Given the description of an element on the screen output the (x, y) to click on. 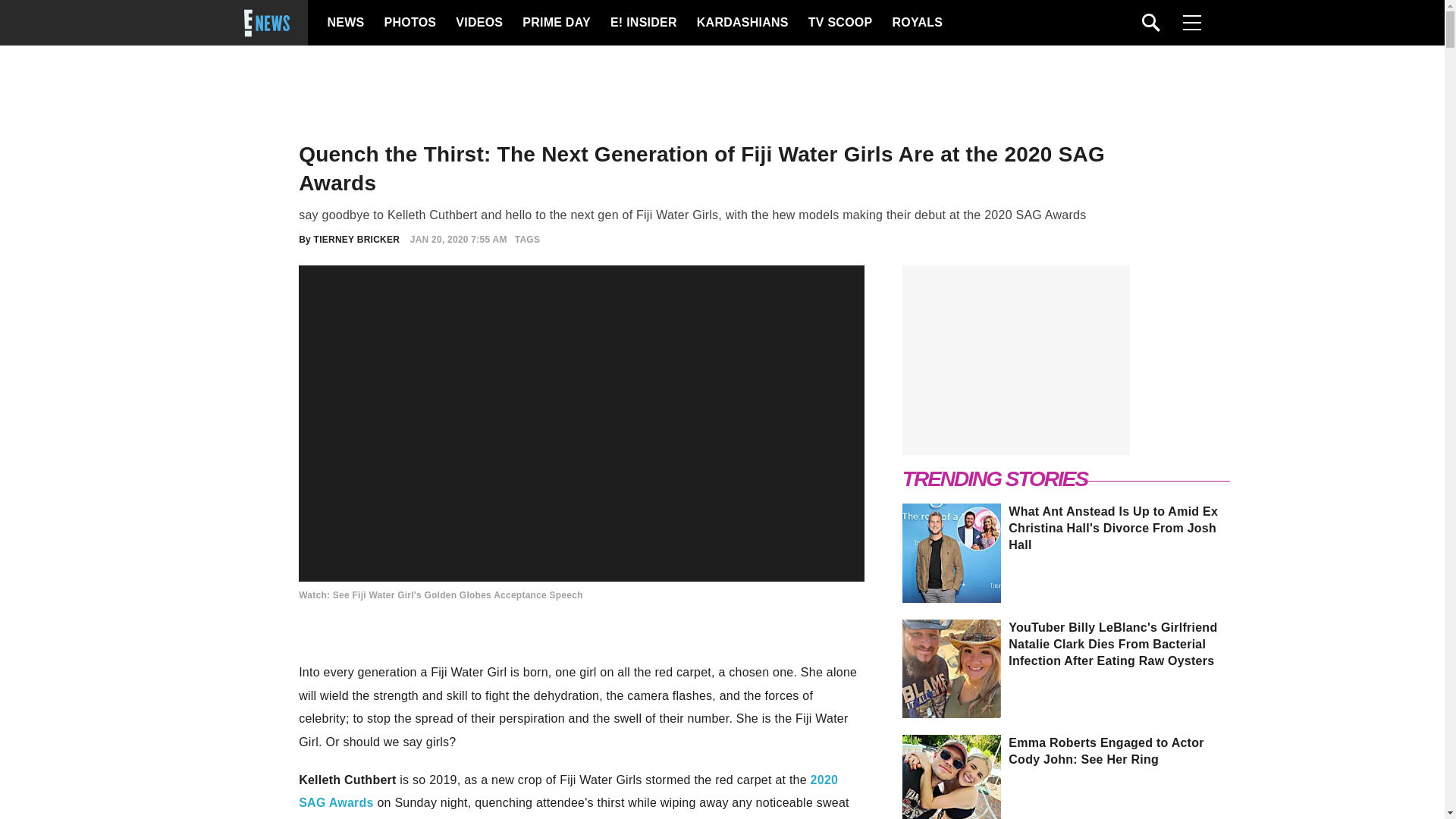
PRIME DAY (556, 22)
ROYALS (915, 22)
VIDEOS (478, 22)
NEWS (345, 22)
PHOTOS (408, 22)
2020 SAG Awards (568, 791)
E! INSIDER (642, 22)
TIERNEY BRICKER (357, 239)
KARDASHIANS (742, 22)
TV SCOOP (839, 22)
